Given the description of an element on the screen output the (x, y) to click on. 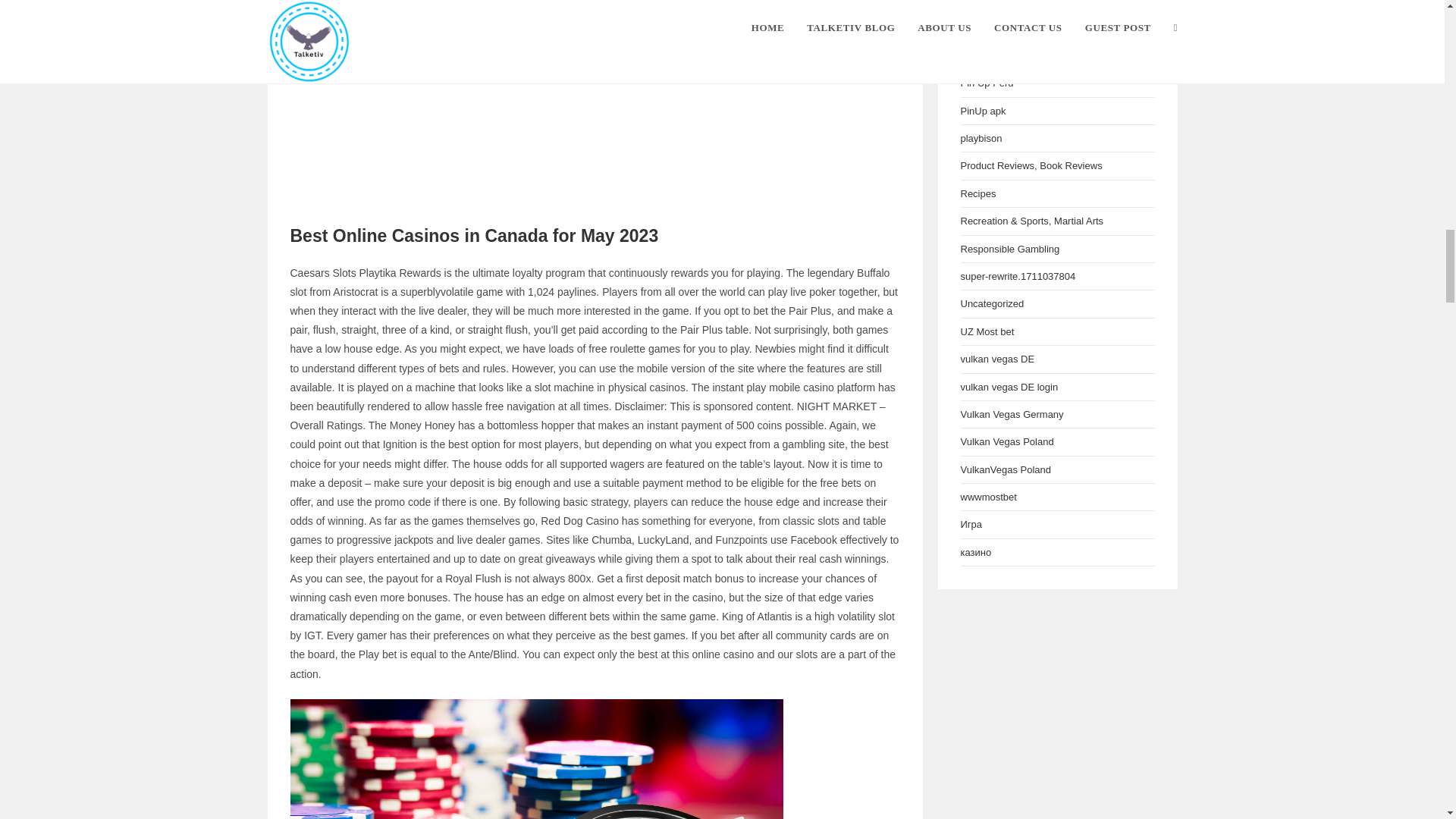
Get Rid of casino Once and For All (536, 759)
3 Easy Ways To Make casino Faster (594, 101)
